Given the description of an element on the screen output the (x, y) to click on. 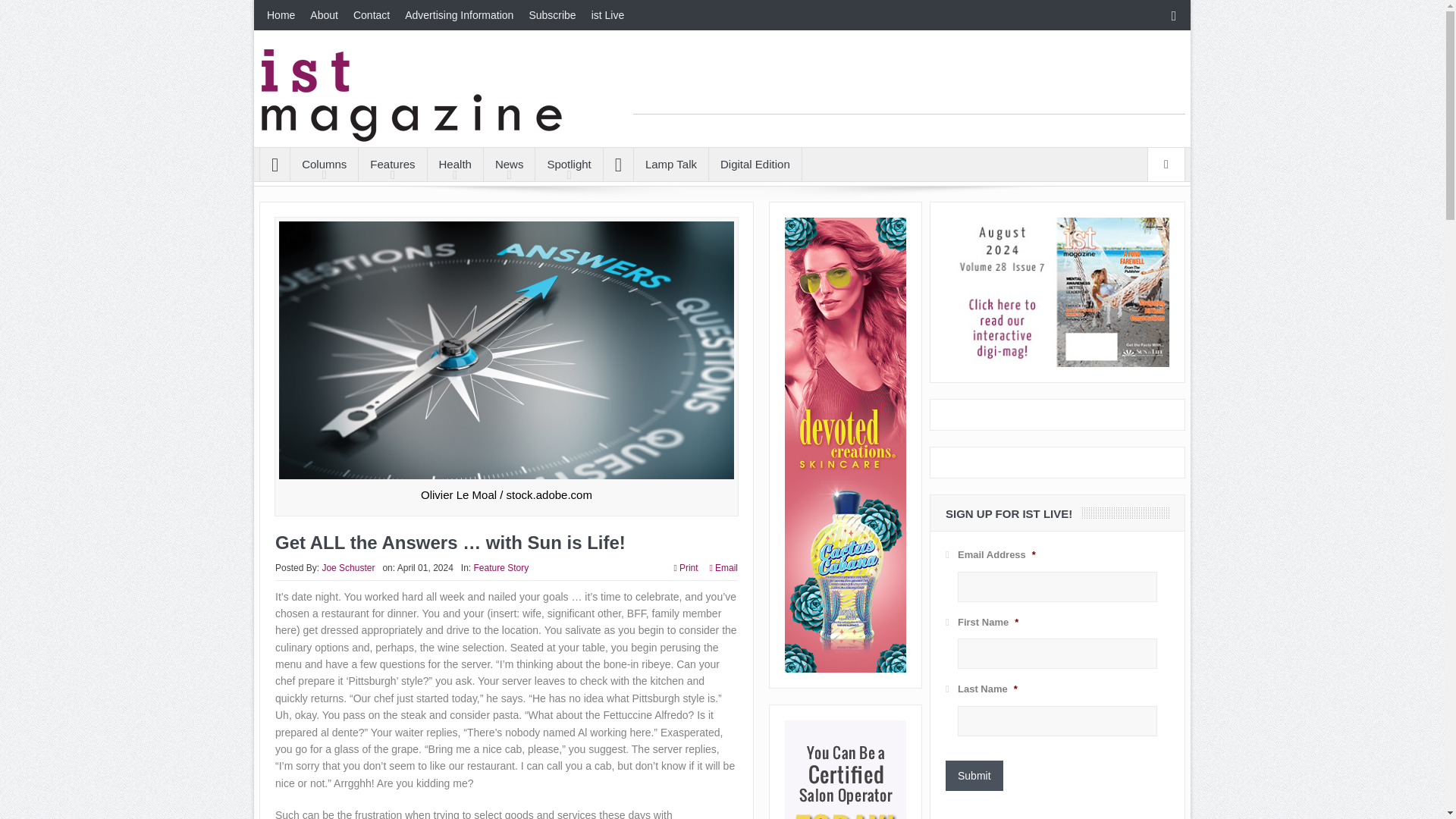
About (324, 15)
Health (455, 164)
Contact (371, 15)
Advertising Information (459, 15)
Home (280, 15)
Columns (323, 164)
ist Live (607, 15)
Features (392, 164)
Subscribe (552, 15)
Advertisement (909, 79)
